Given the description of an element on the screen output the (x, y) to click on. 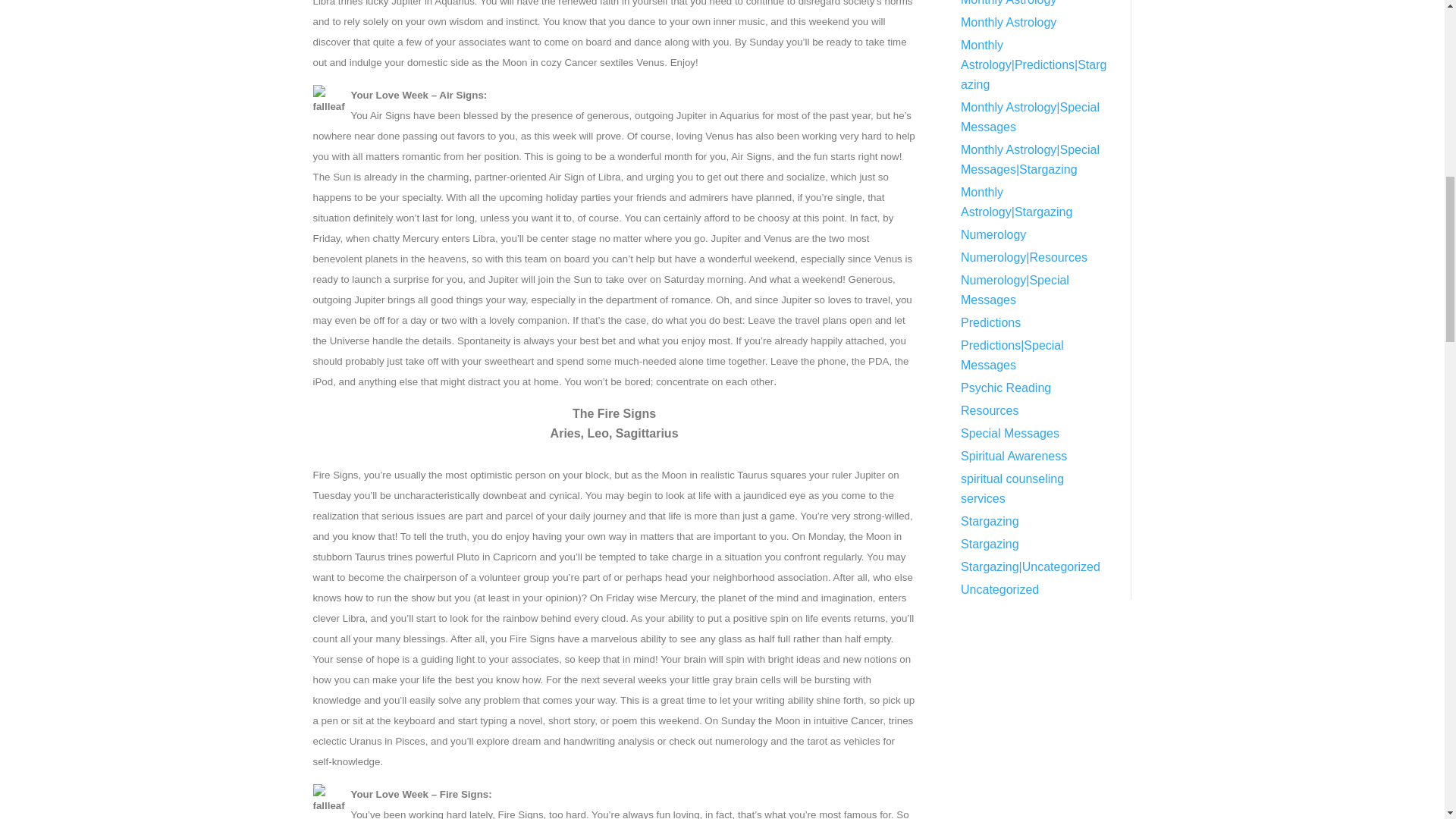
Numerology (993, 238)
Monthly Astrology (1008, 25)
Monthly Astrology (1008, 6)
Psychic Reading (1005, 391)
Predictions (990, 326)
